Given the description of an element on the screen output the (x, y) to click on. 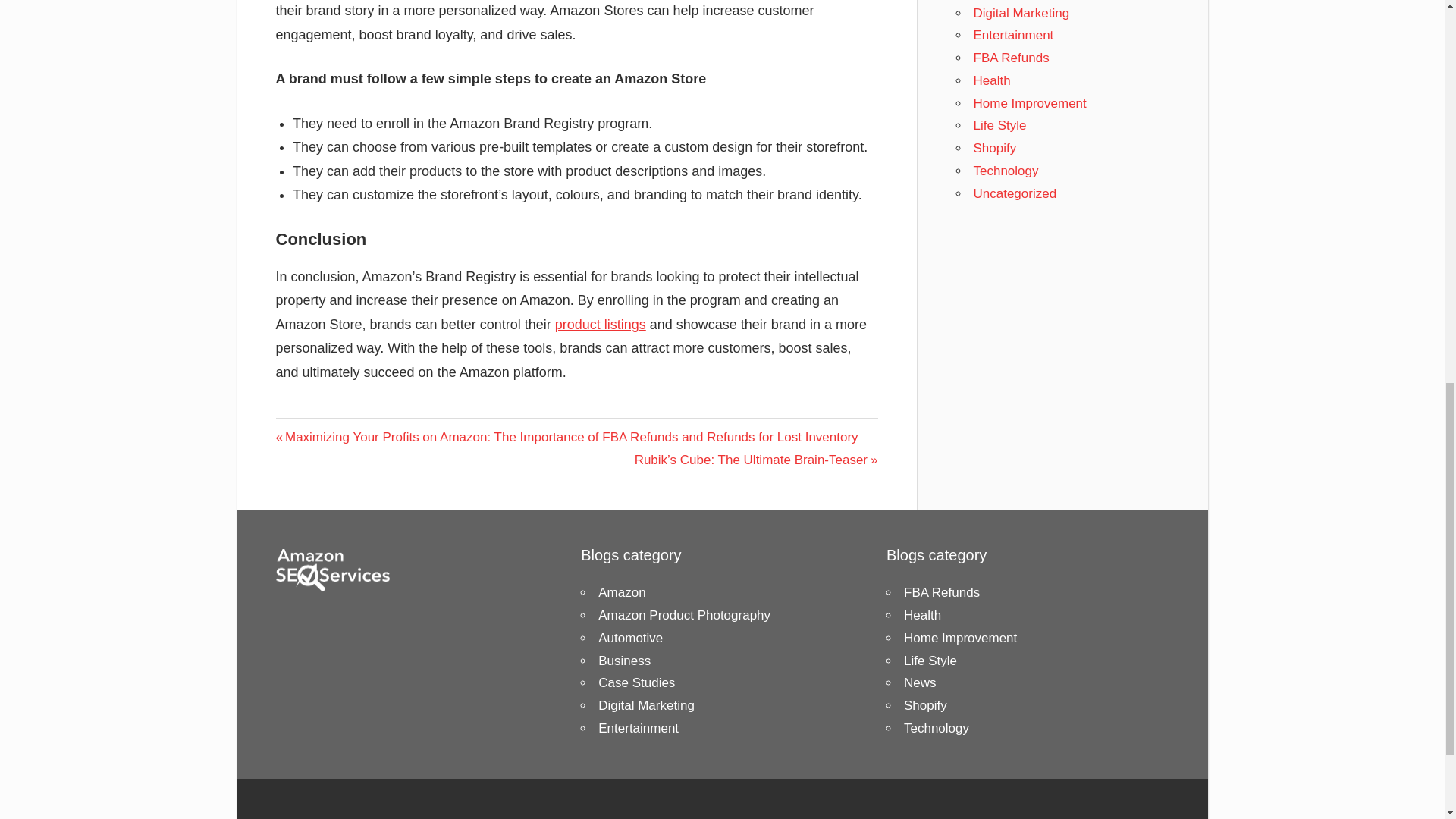
Entertainment (1014, 34)
Shopify (995, 147)
Amazon (621, 592)
AMAZON (306, 431)
product listings (600, 324)
FBA Refunds (1011, 57)
Technology (1006, 170)
Uncategorized (1015, 193)
Health (992, 80)
Home Improvement (1030, 102)
Digital Marketing (1022, 12)
Life Style (1000, 124)
